Given the description of an element on the screen output the (x, y) to click on. 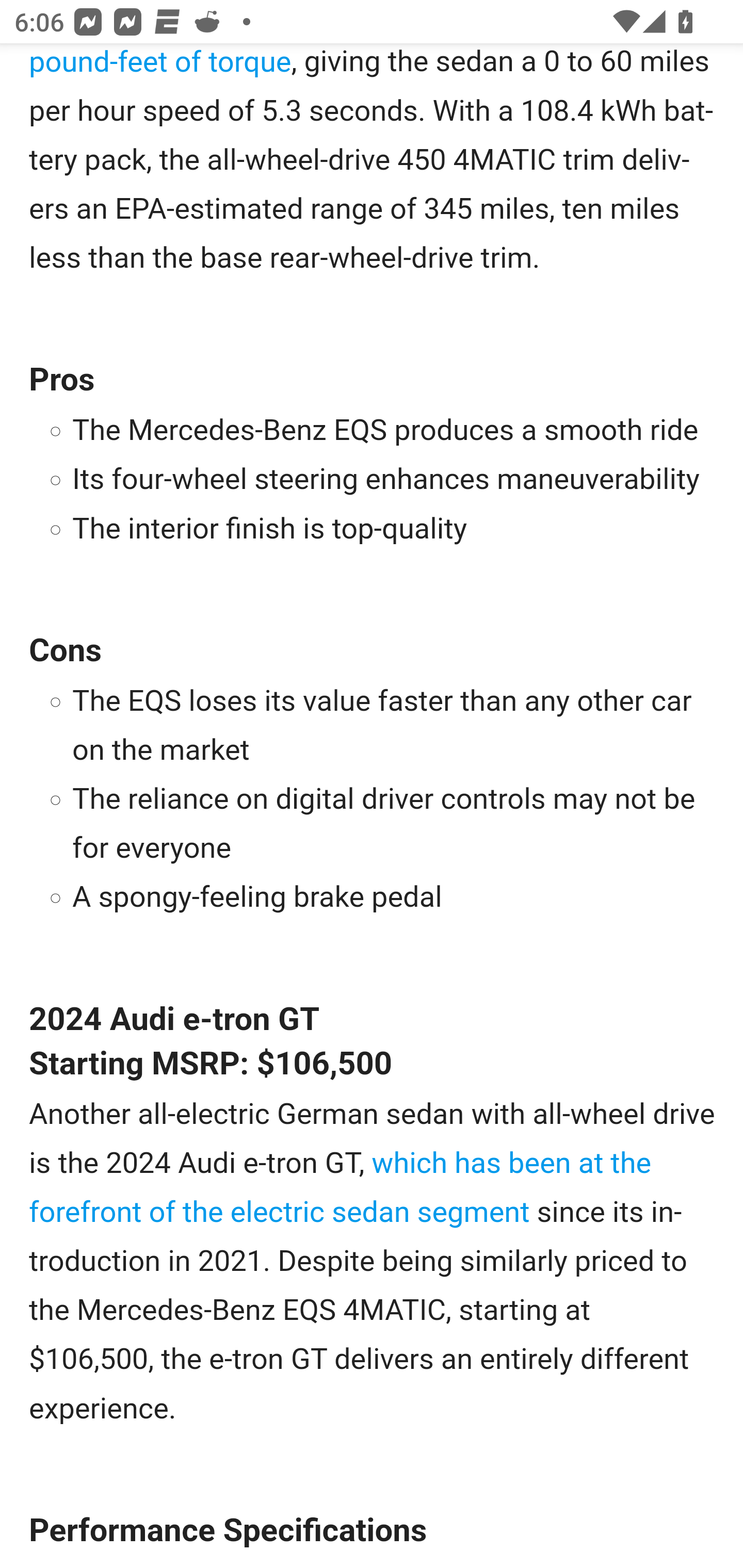
335 horsepower and 590 pound-feet of torque (361, 64)
